Given the description of an element on the screen output the (x, y) to click on. 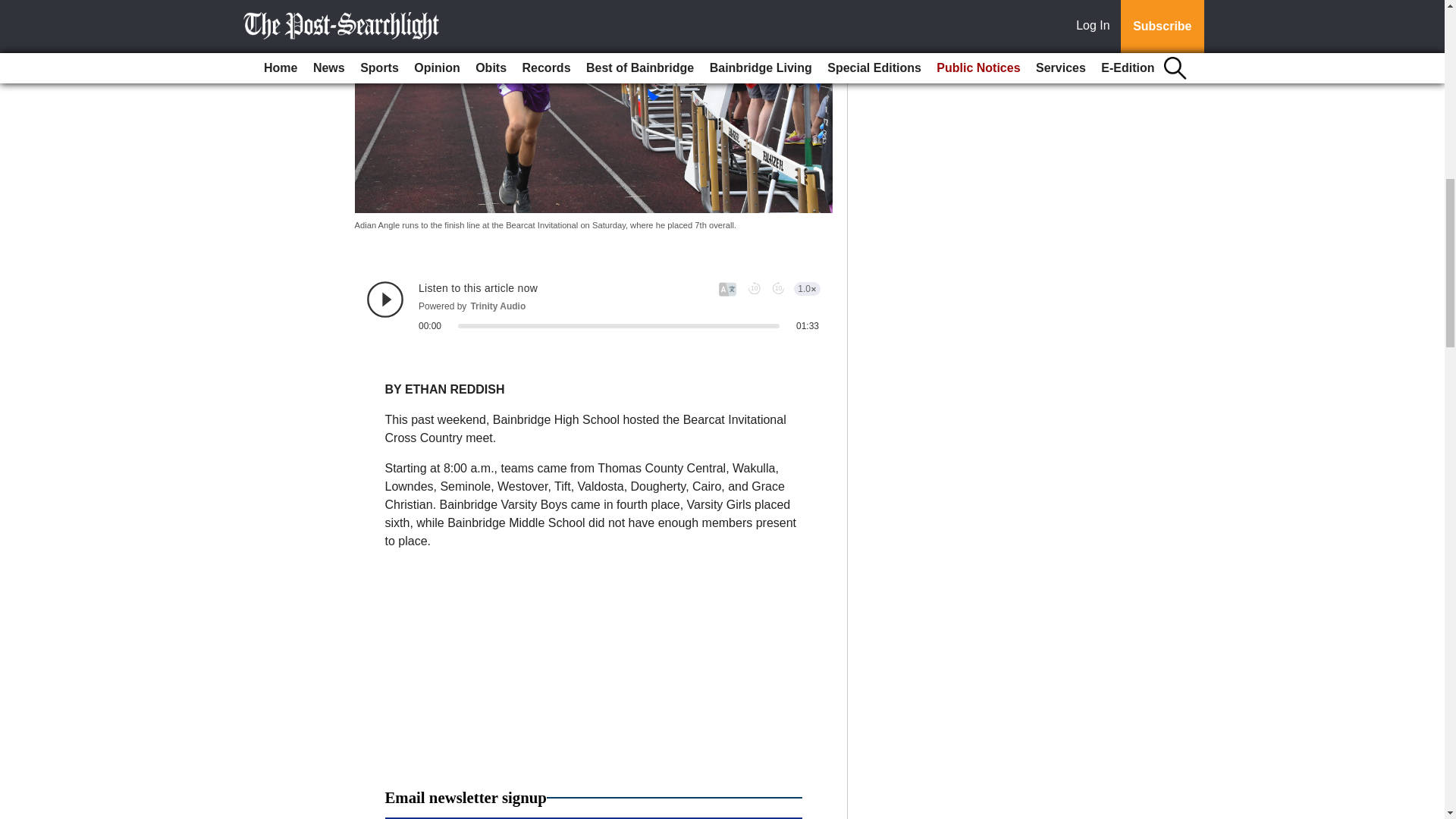
Trinity Audio Player (592, 306)
